Given the description of an element on the screen output the (x, y) to click on. 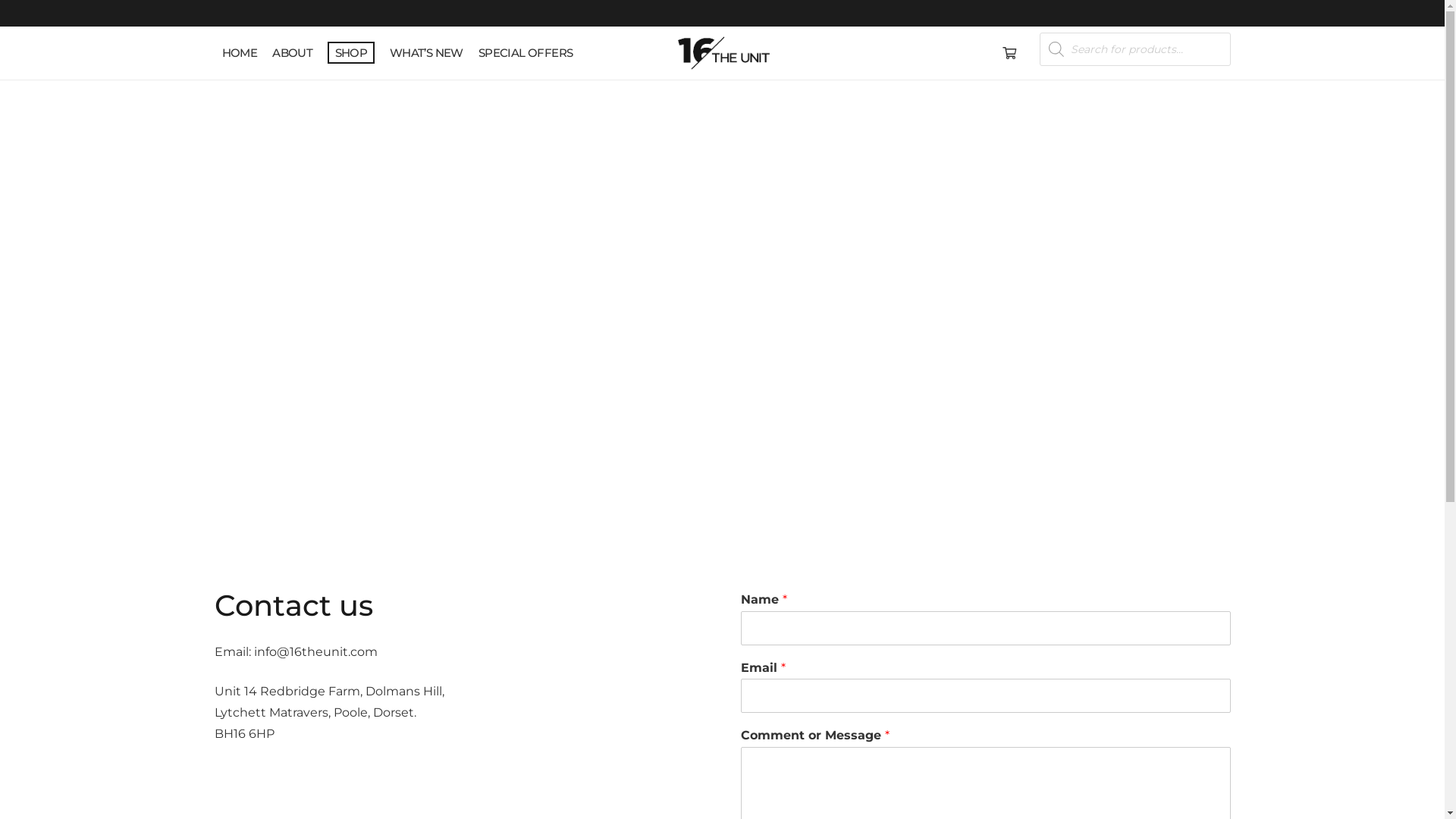
SHOP Element type: text (351, 52)
0 Element type: text (1008, 53)
SPECIAL OFFERS Element type: text (525, 52)
ABOUT Element type: text (292, 52)
HOME Element type: text (238, 52)
info@16theunit.com Element type: text (314, 651)
